Given the description of an element on the screen output the (x, y) to click on. 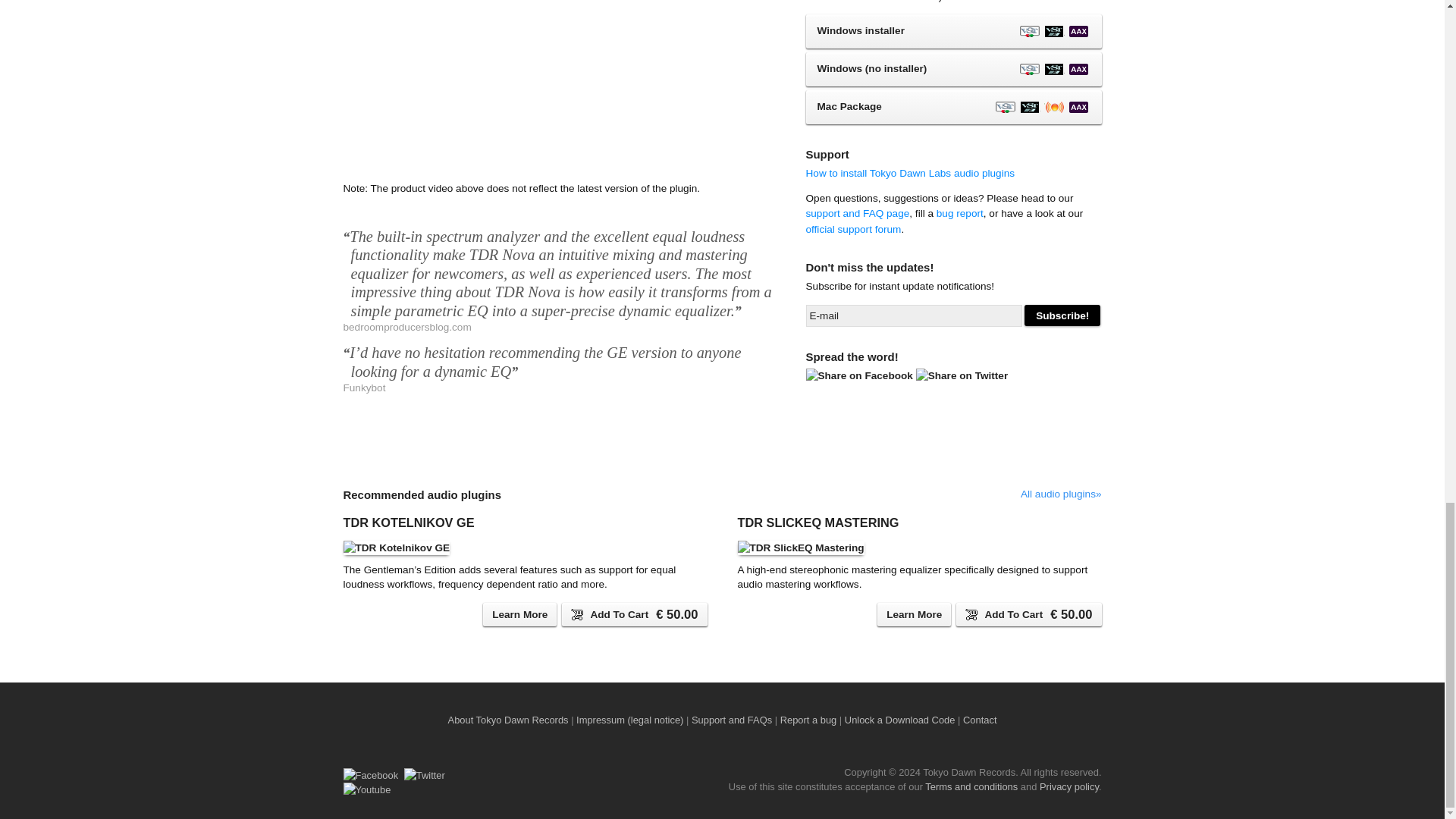
bedroomproducersblog.com (558, 327)
Funkybot (558, 387)
bug report (960, 213)
Windows installer (952, 31)
Download TDR Nova GE - Windows installer (952, 31)
official support forum (853, 229)
E-mail (913, 315)
Subscribe! (1062, 314)
Subscribe! (1062, 314)
support and FAQ page (856, 213)
Mac Package (952, 107)
VST2 (1029, 31)
How to install Tokyo Dawn Labs audio plugins (909, 173)
